Given the description of an element on the screen output the (x, y) to click on. 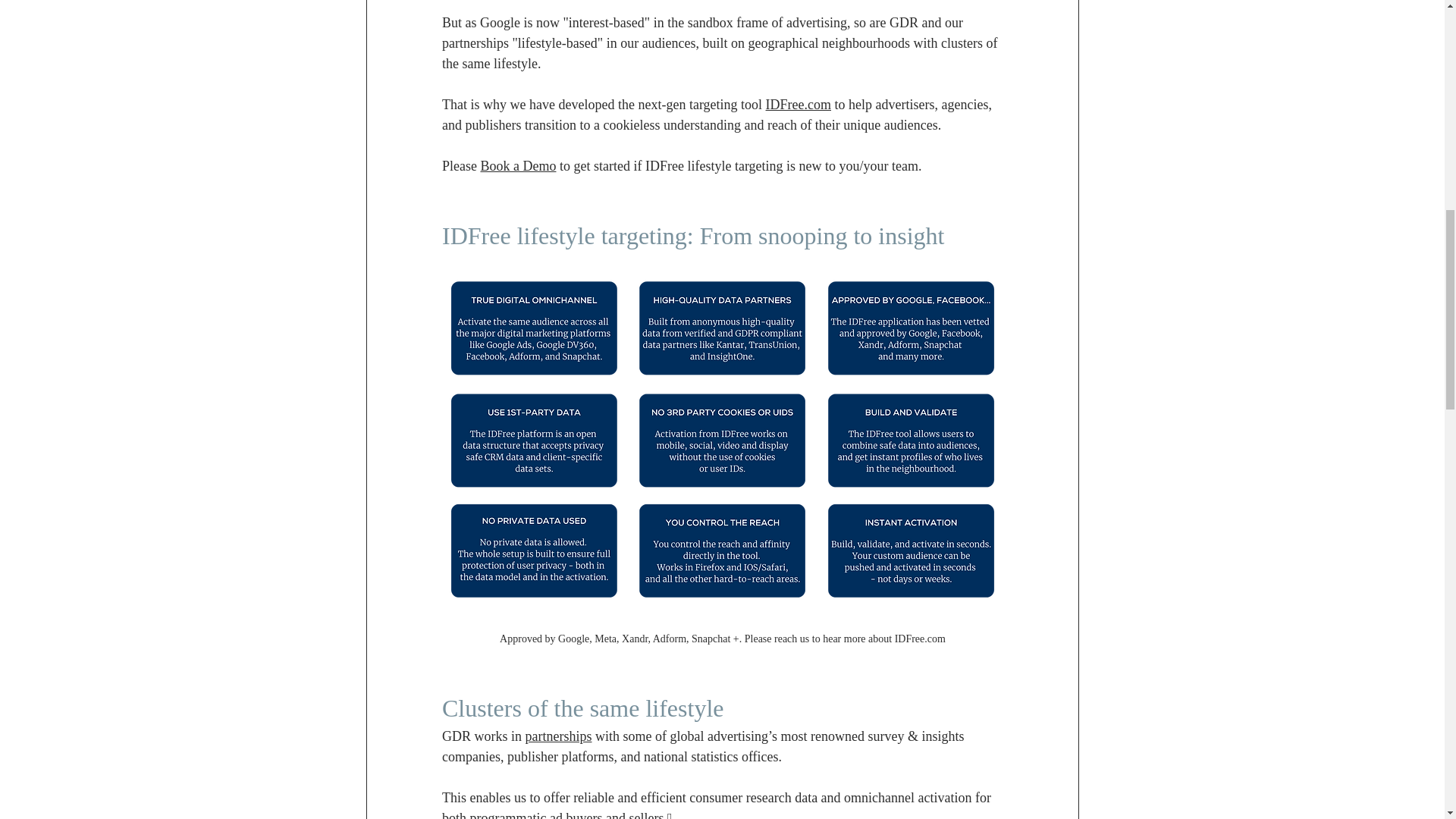
partnerships (557, 735)
IDFree.com (797, 104)
Book a Demo (518, 165)
